Given the description of an element on the screen output the (x, y) to click on. 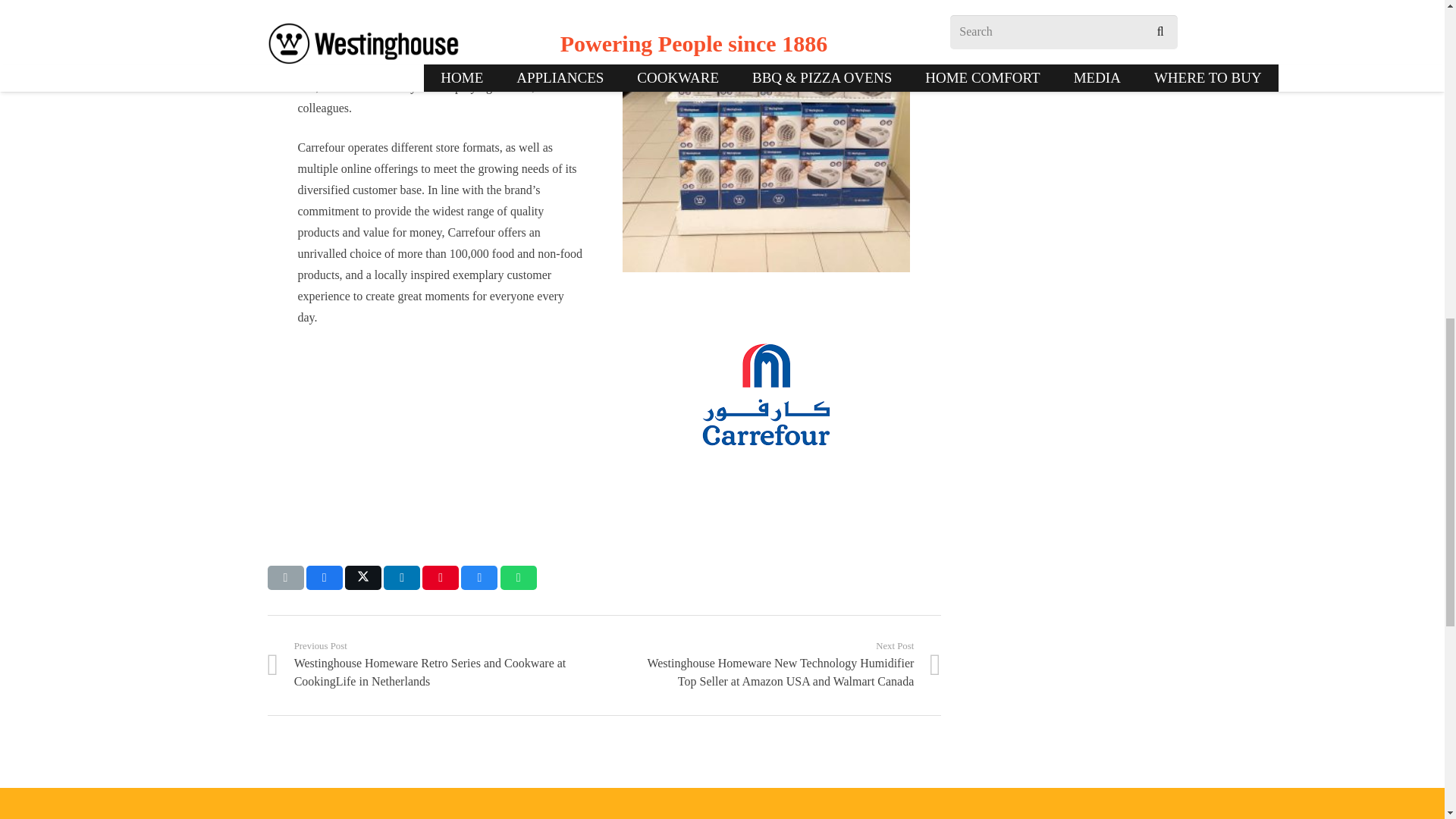
Share this (518, 577)
Tweet this (363, 577)
Pin this (440, 577)
Share this (402, 577)
Share this (479, 577)
Email this (284, 577)
Share this (323, 577)
